Given the description of an element on the screen output the (x, y) to click on. 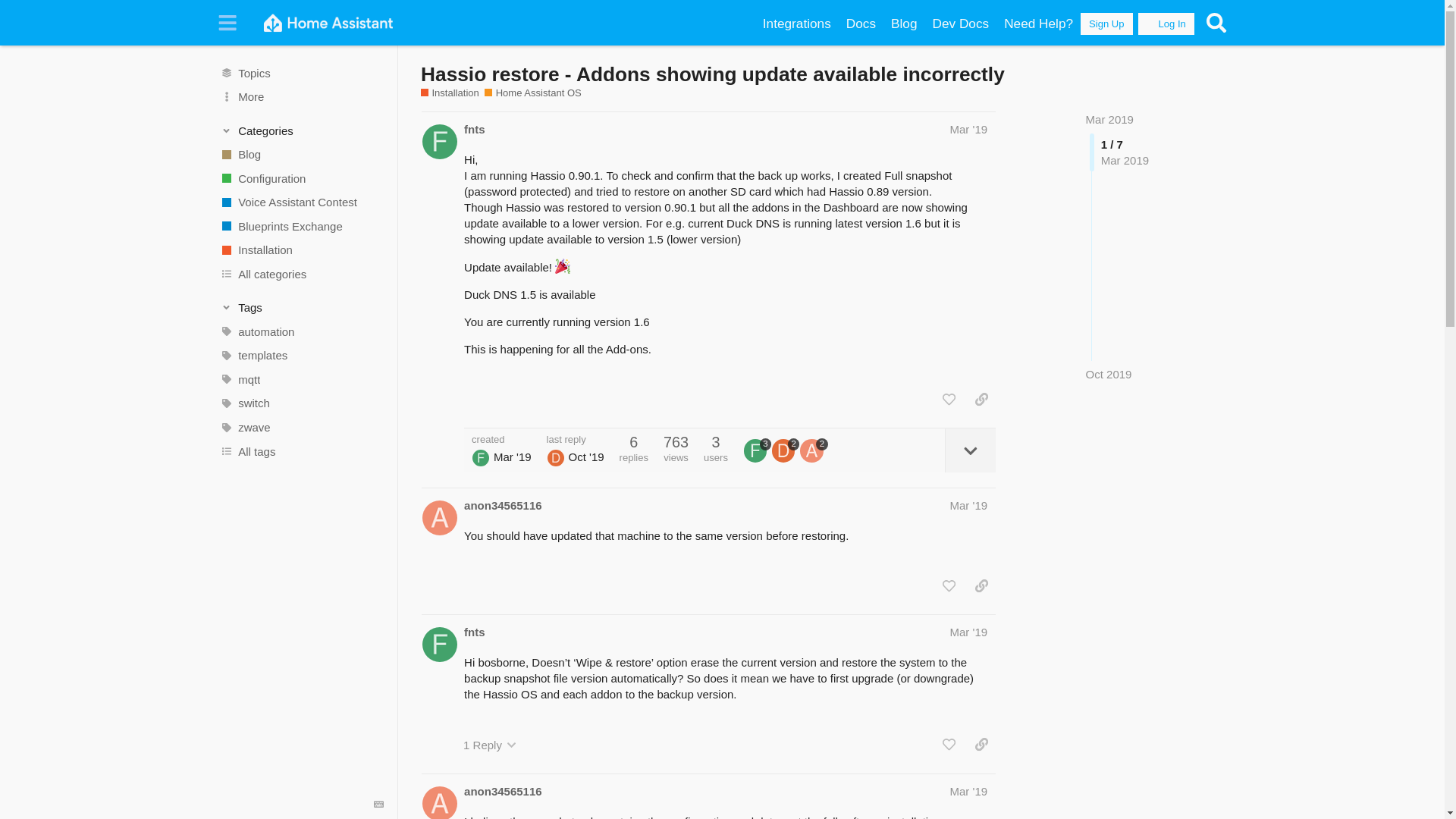
All tags (301, 450)
Toggle section (301, 307)
Log In (1165, 24)
All categories (301, 274)
switch (301, 403)
More (301, 96)
Blog (903, 23)
Topics (301, 72)
Docs (860, 23)
Tags (301, 307)
Blog (903, 23)
templates (301, 355)
Installation (449, 92)
